Given the description of an element on the screen output the (x, y) to click on. 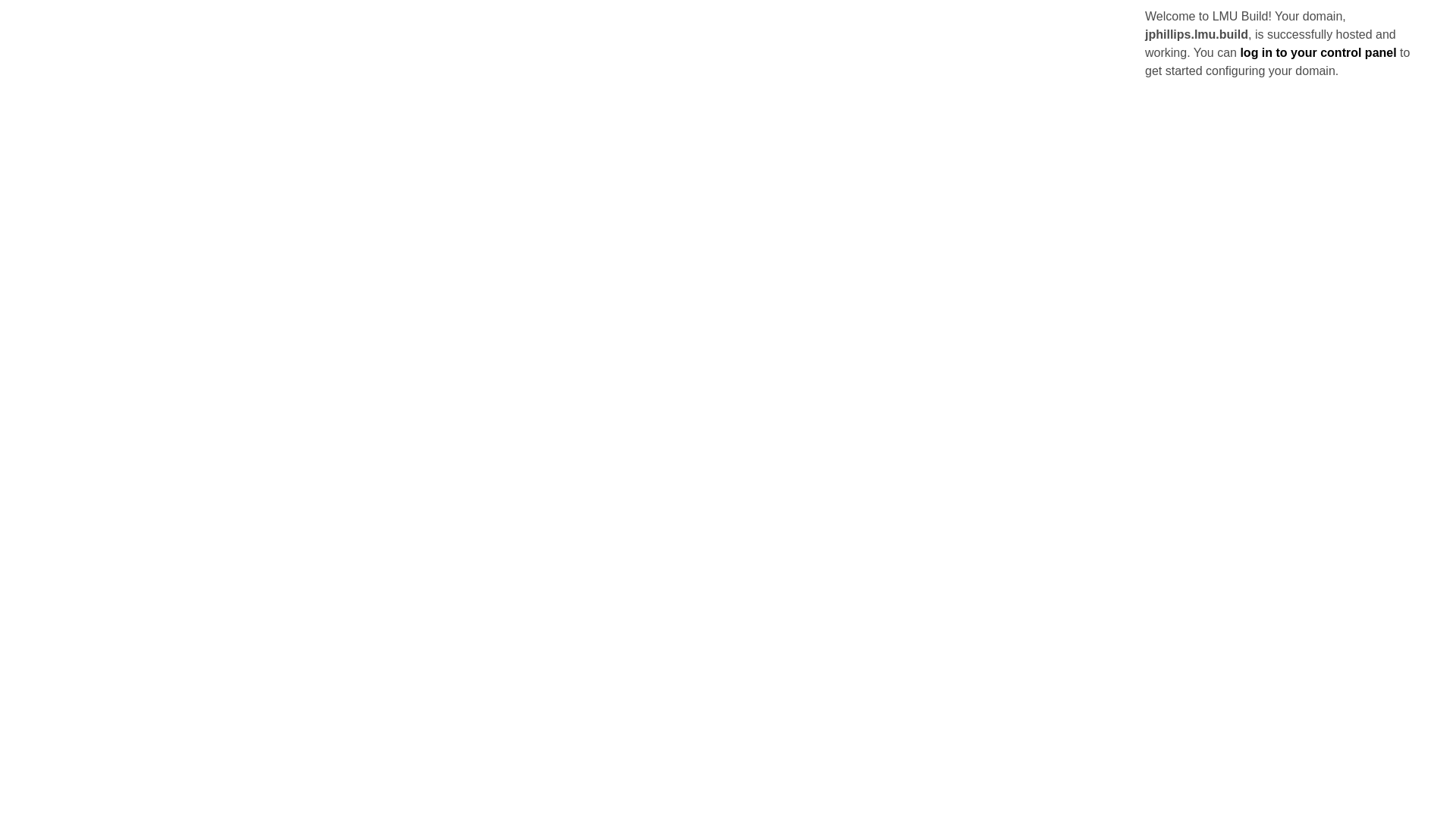
log in to your control panel Element type: text (1317, 52)
